Given the description of an element on the screen output the (x, y) to click on. 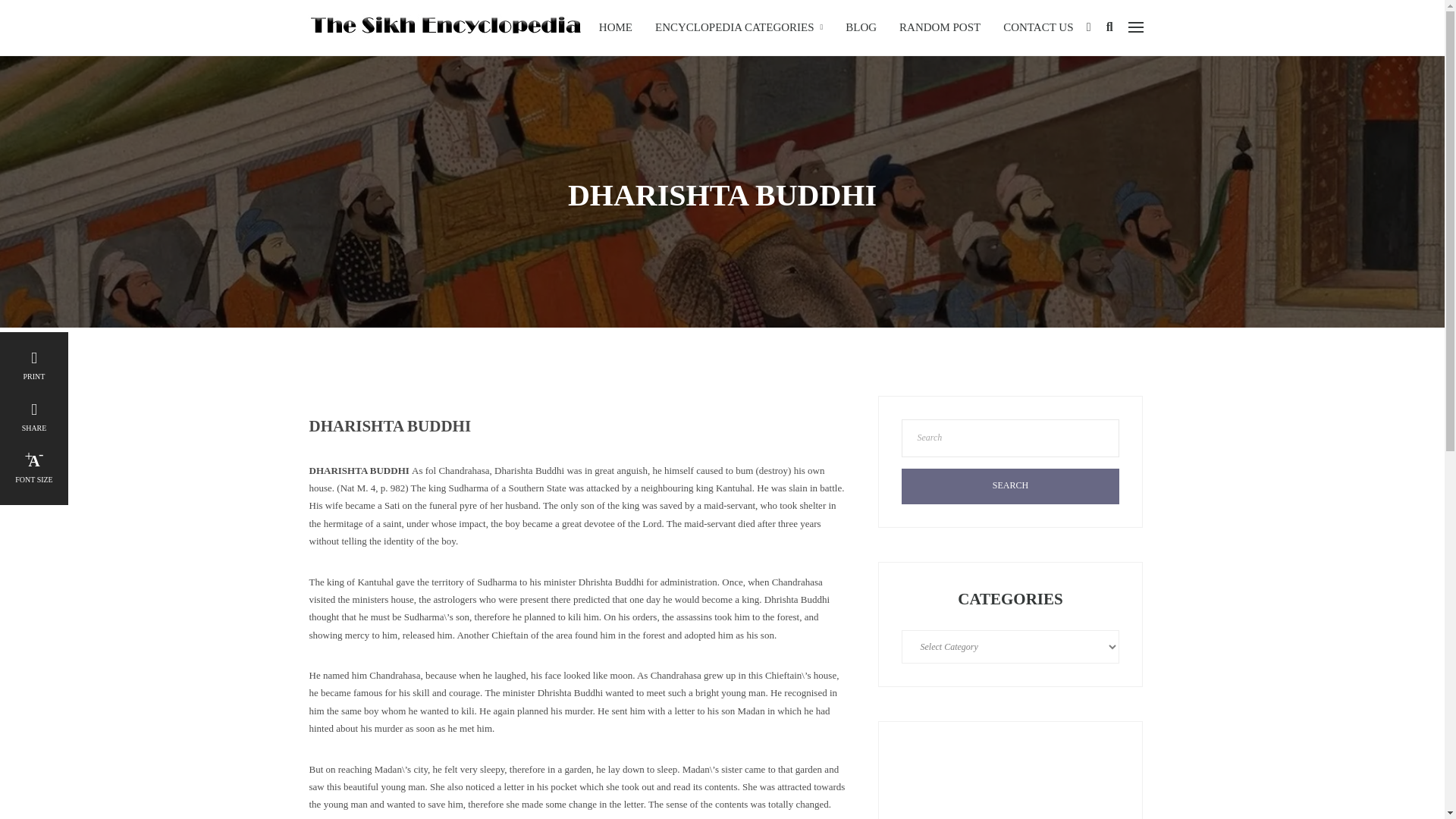
CONTACT US (1037, 27)
ENCYCLOPEDIA CATEGORIES (738, 27)
HOME (615, 27)
Advertisement (1010, 781)
Login (1088, 27)
BLOG (861, 27)
RANDOM POST (939, 27)
The Sikh Encyclopedia (443, 25)
